Given the description of an element on the screen output the (x, y) to click on. 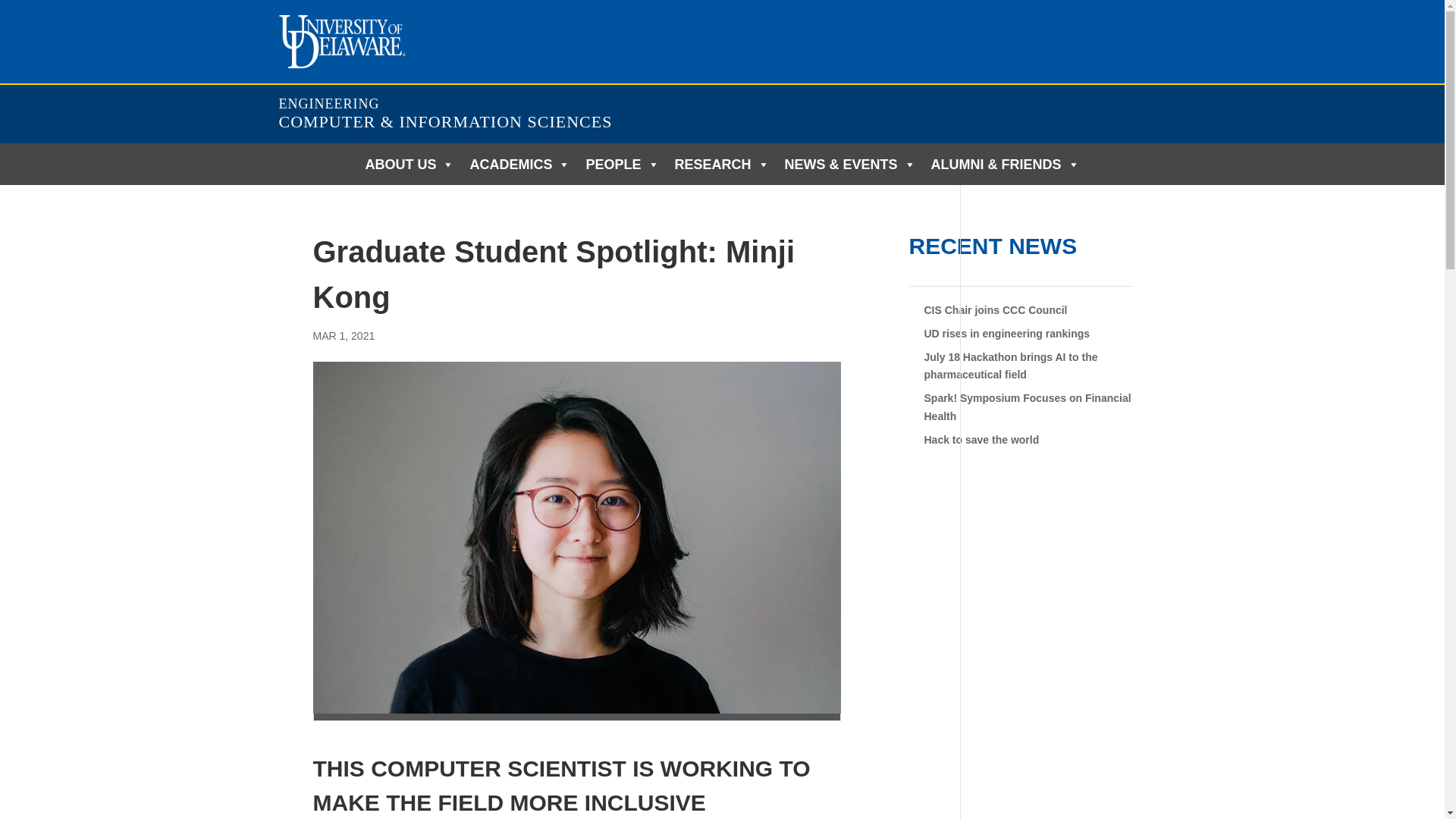
ABOUT US (408, 164)
ENGINEERING (329, 103)
ACADEMICS (519, 164)
PEOPLE (622, 164)
